Given the description of an element on the screen output the (x, y) to click on. 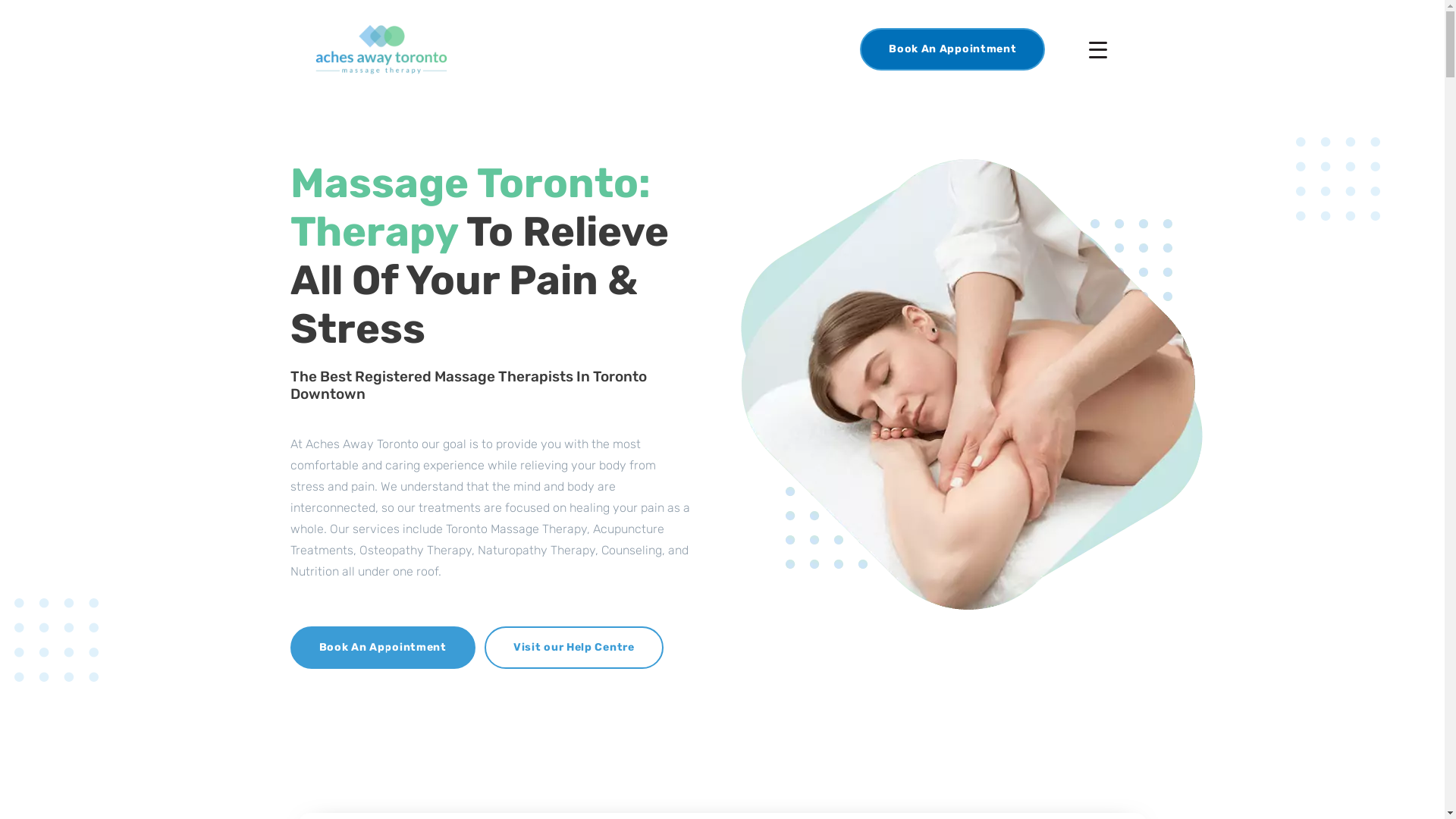
Book An Appointment Element type: text (951, 49)
Visit our Help Centre Element type: text (573, 647)
Book An Appointment Element type: text (381, 647)
